Given the description of an element on the screen output the (x, y) to click on. 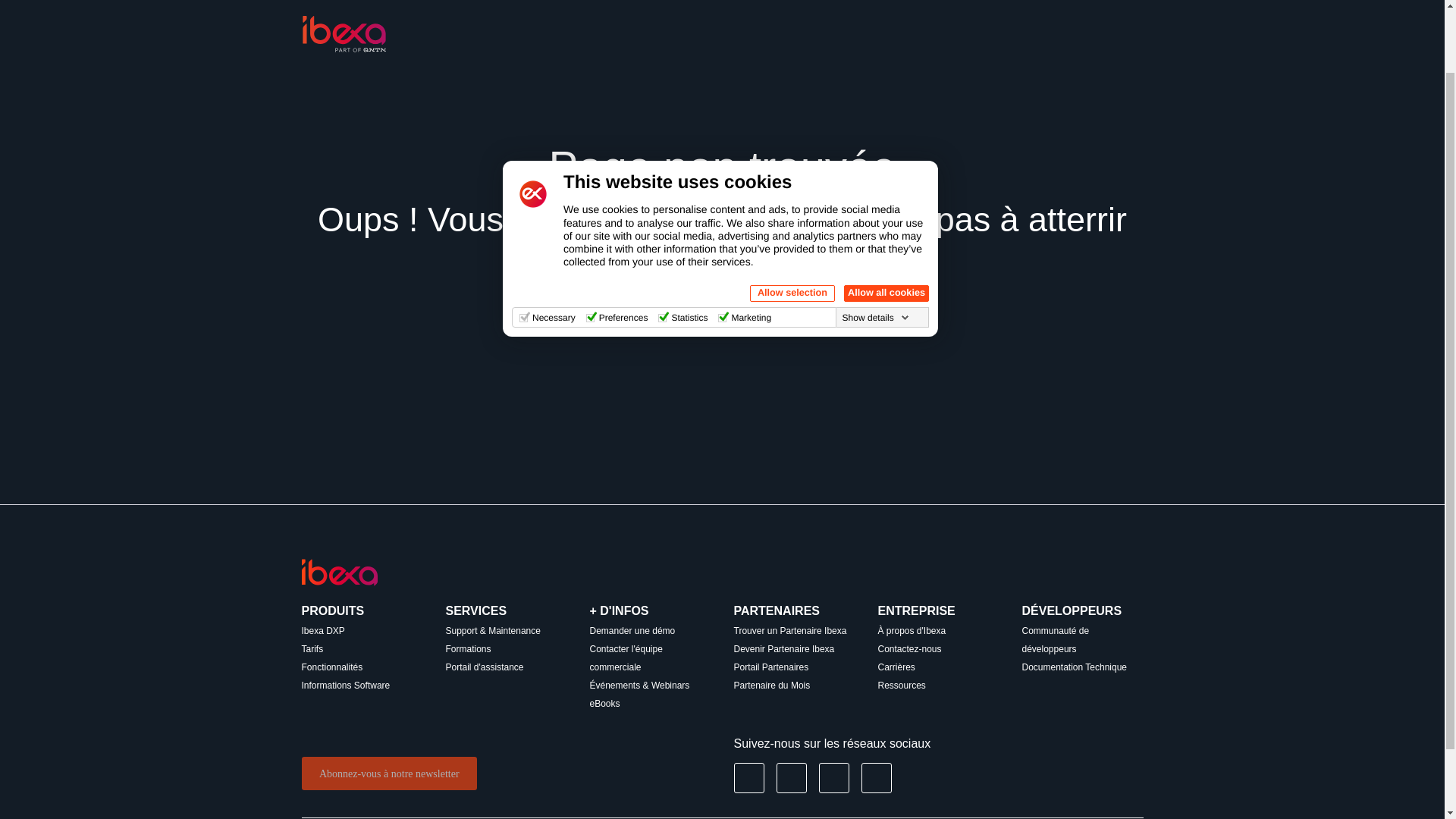
Allow selection (791, 217)
Show details (876, 242)
Allow all cookies (886, 217)
